Given the description of an element on the screen output the (x, y) to click on. 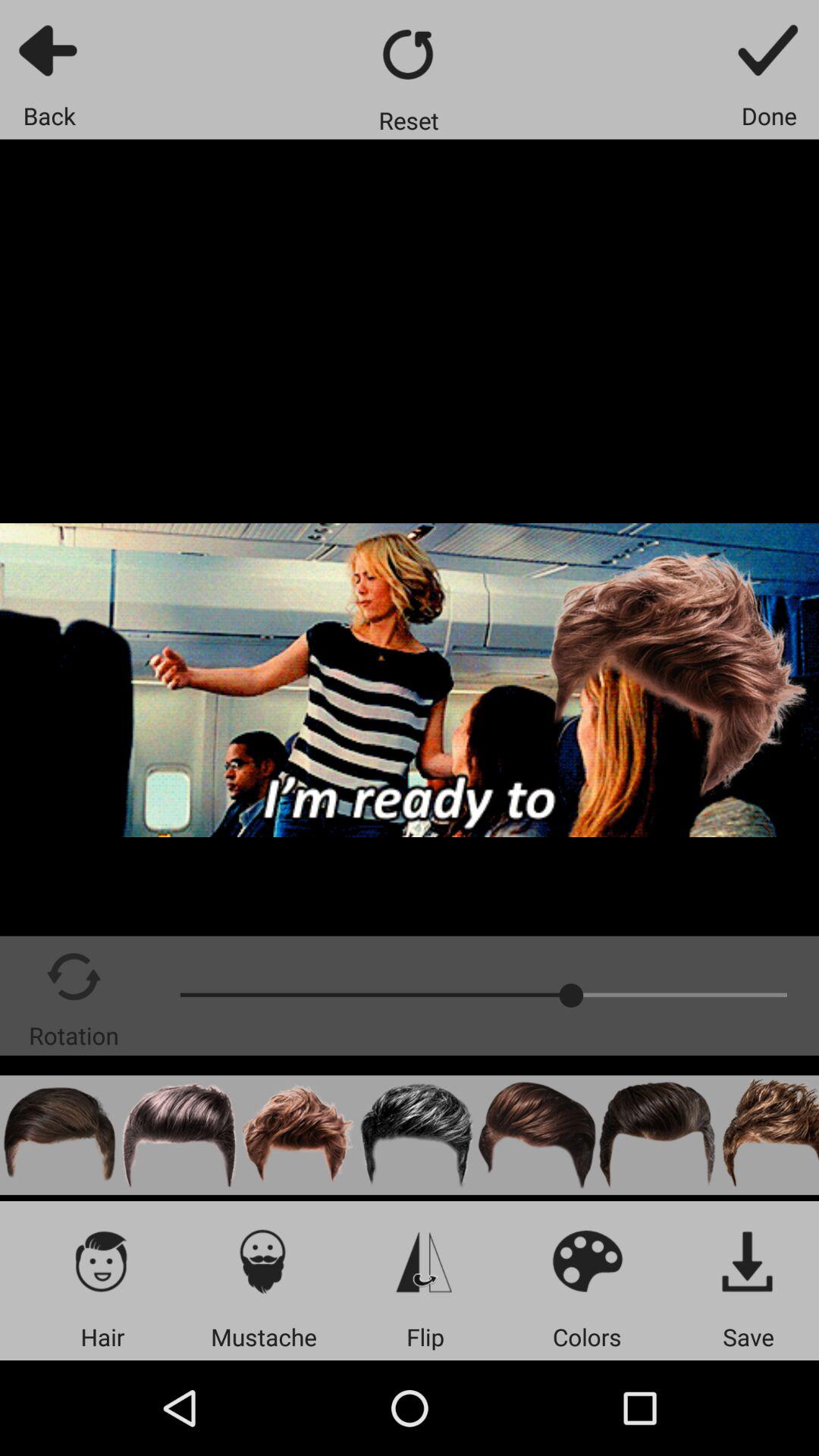
reset button (408, 54)
